Given the description of an element on the screen output the (x, y) to click on. 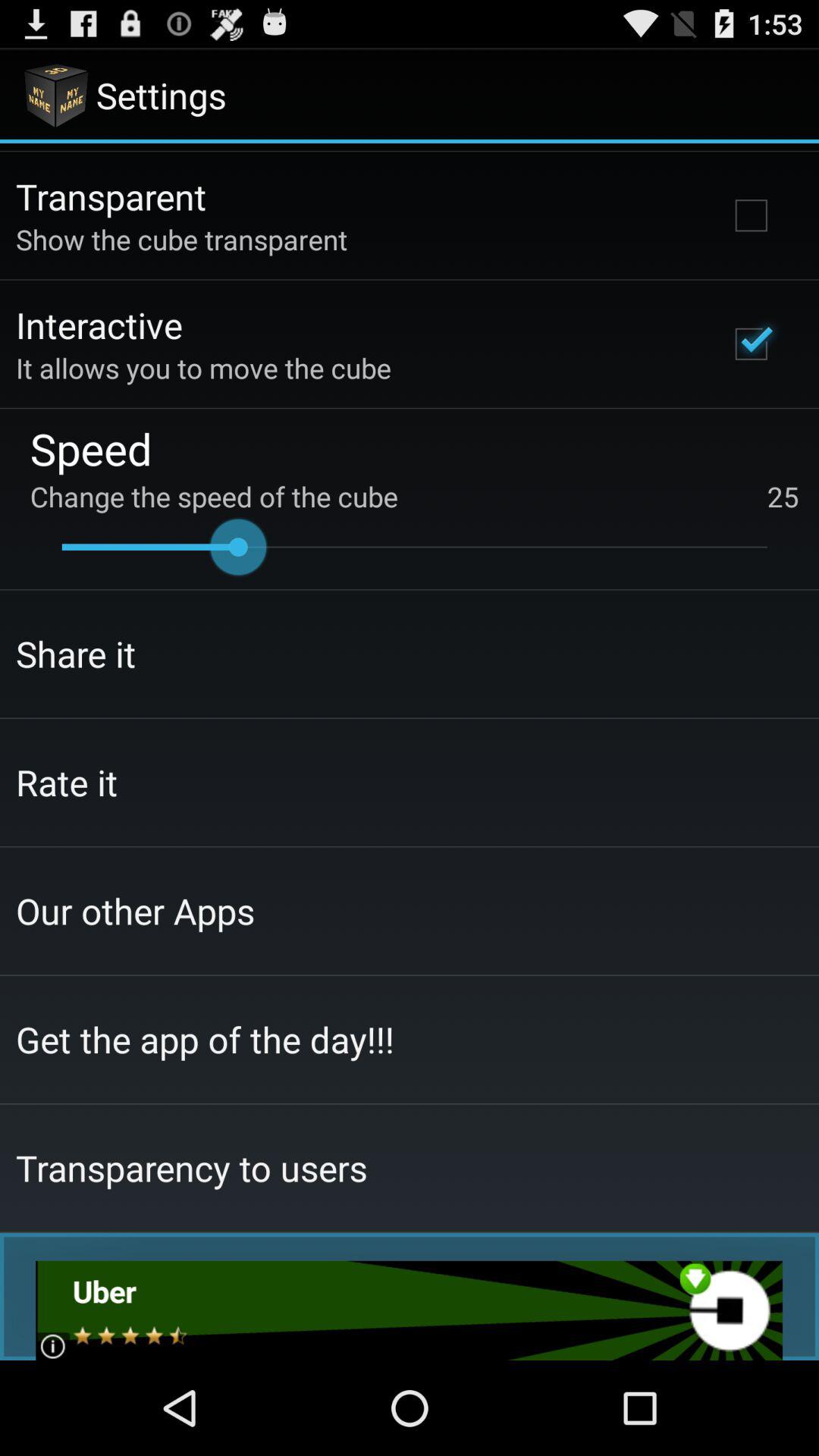
choose the 25 on the right (783, 496)
